Given the description of an element on the screen output the (x, y) to click on. 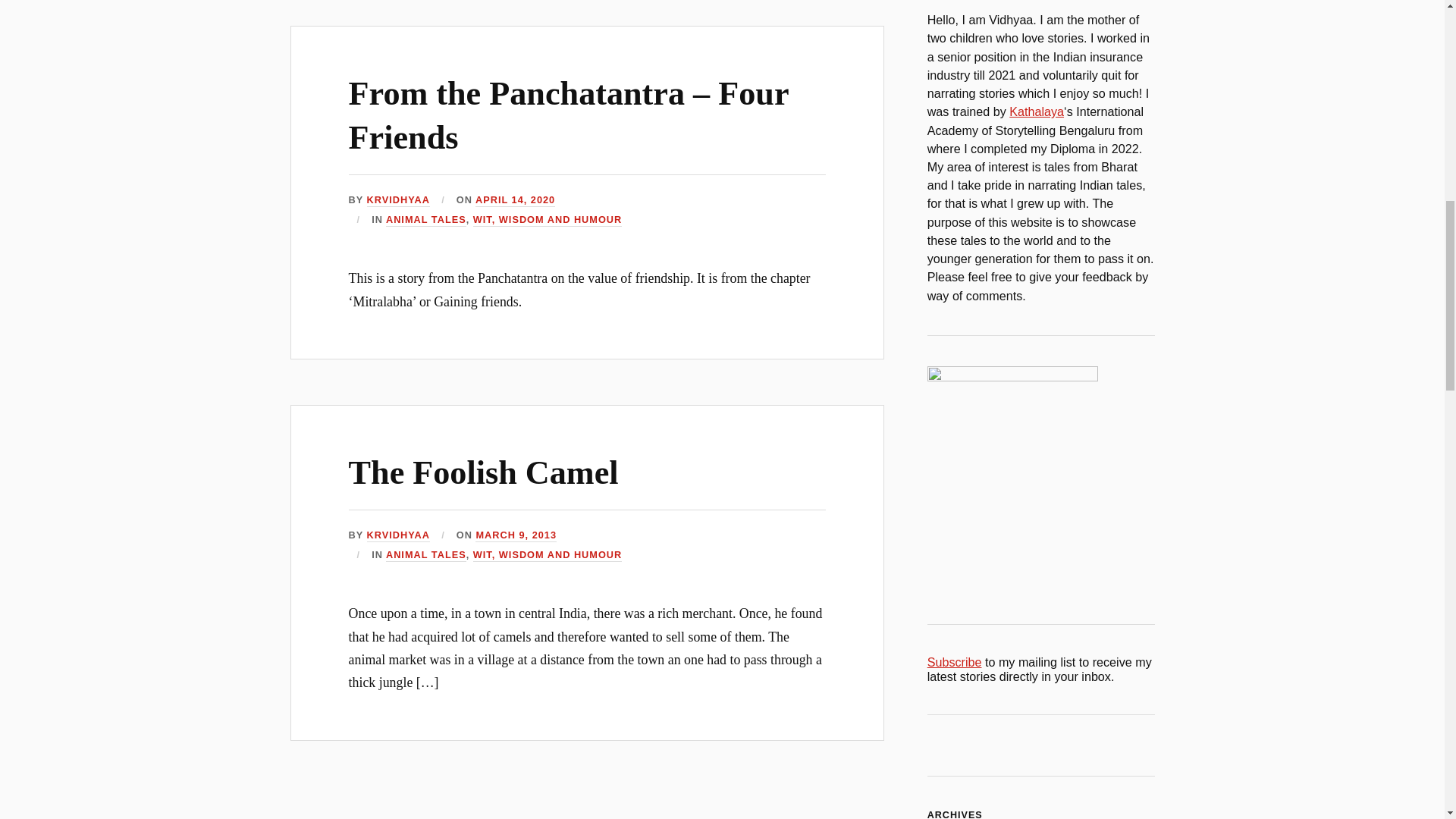
ANIMAL TALES (425, 219)
KRVIDHYAA (397, 200)
Posts by krvidhyaa (397, 200)
KRVIDHYAA (397, 535)
APRIL 14, 2020 (515, 200)
The Foolish Camel (483, 472)
Kathalaya (1036, 110)
WIT, WISDOM AND HUMOUR (547, 219)
WIT, WISDOM AND HUMOUR (547, 554)
MARCH 9, 2013 (516, 535)
